Given the description of an element on the screen output the (x, y) to click on. 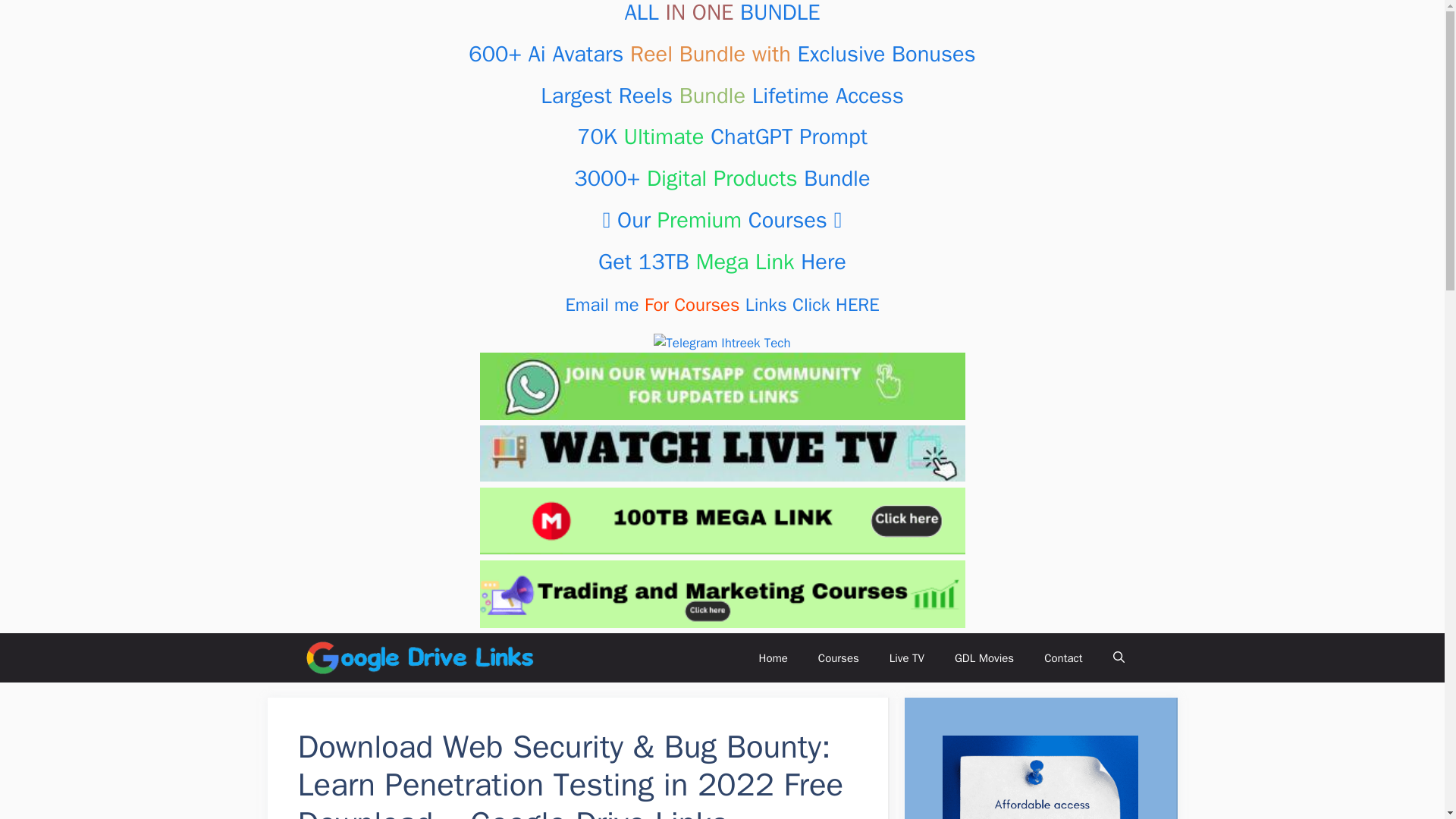
Google Drive Links (721, 262)
GDL Movies (984, 657)
70K Ultimate ChatGPT Prompt (721, 136)
Marketing and trading courses (721, 594)
Google Drive Links (721, 220)
Google Drive Links Telegram Group (721, 342)
Largest Reels Bundle Lifetime Access (721, 95)
Courses (839, 657)
Google Drive Links (721, 95)
Get 13TB Mega Link Here (721, 262)
Email me For Courses Links Click HERE (721, 304)
ALL IN ONE BUNDLE (722, 13)
Google Drive Links Watch Live TV (721, 453)
100tb mega link (721, 521)
Home (772, 657)
